Given the description of an element on the screen output the (x, y) to click on. 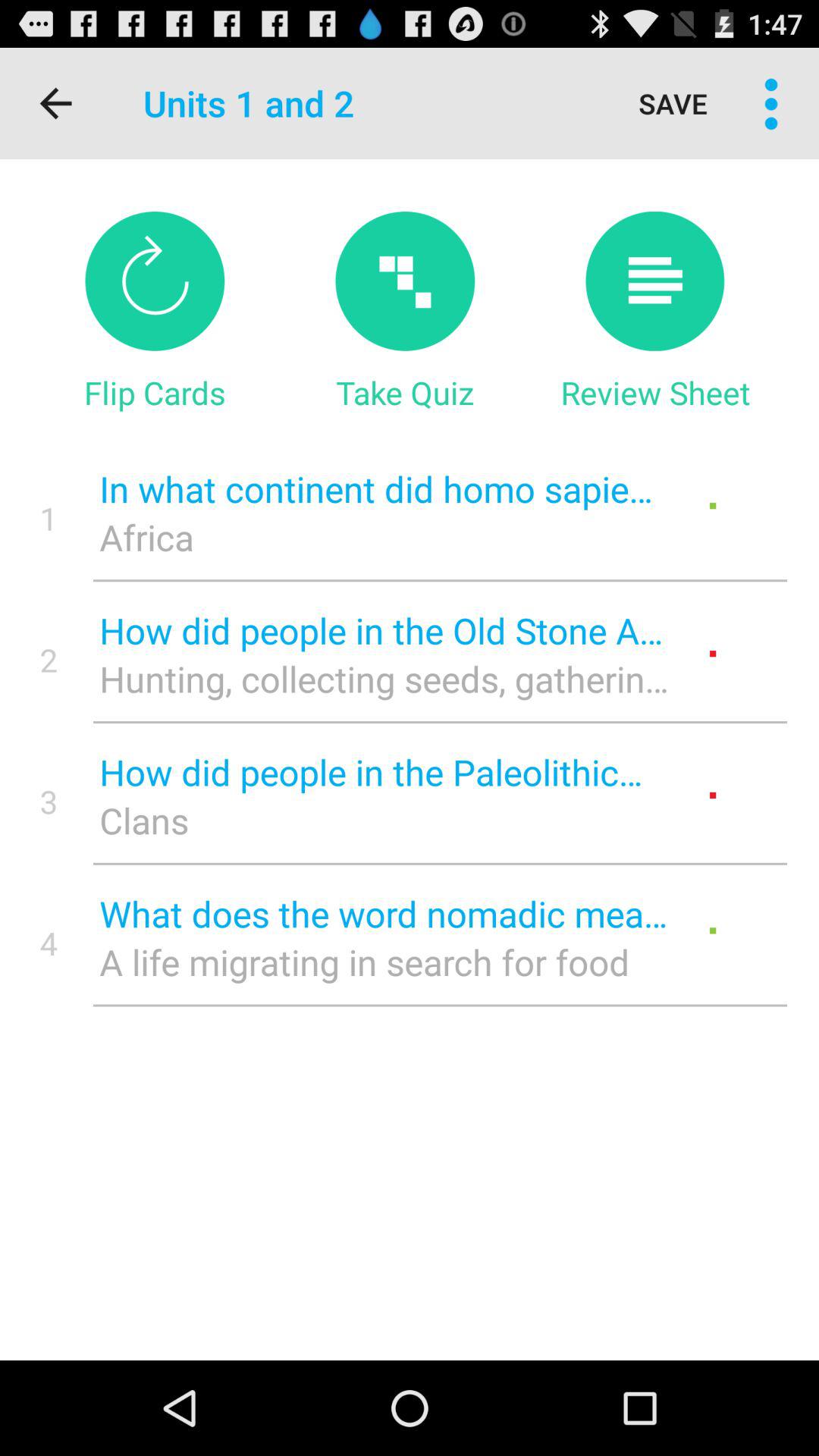
tap the icon next to how did people (48, 800)
